Given the description of an element on the screen output the (x, y) to click on. 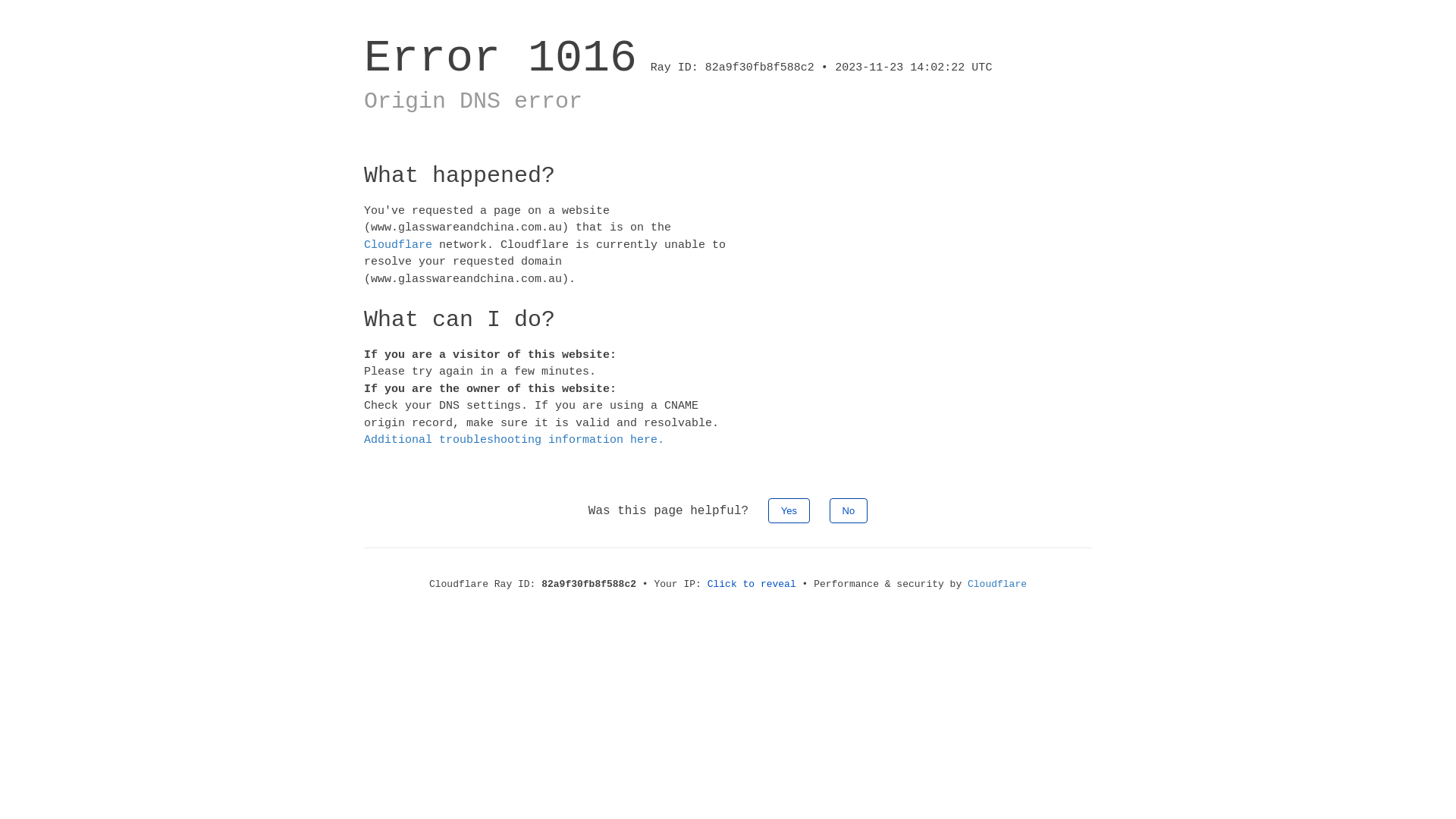
Cloudflare Element type: text (398, 244)
Cloudflare Element type: text (996, 583)
Yes Element type: text (788, 509)
No Element type: text (848, 509)
Additional troubleshooting information here. Element type: text (514, 439)
Click to reveal Element type: text (751, 583)
